Given the description of an element on the screen output the (x, y) to click on. 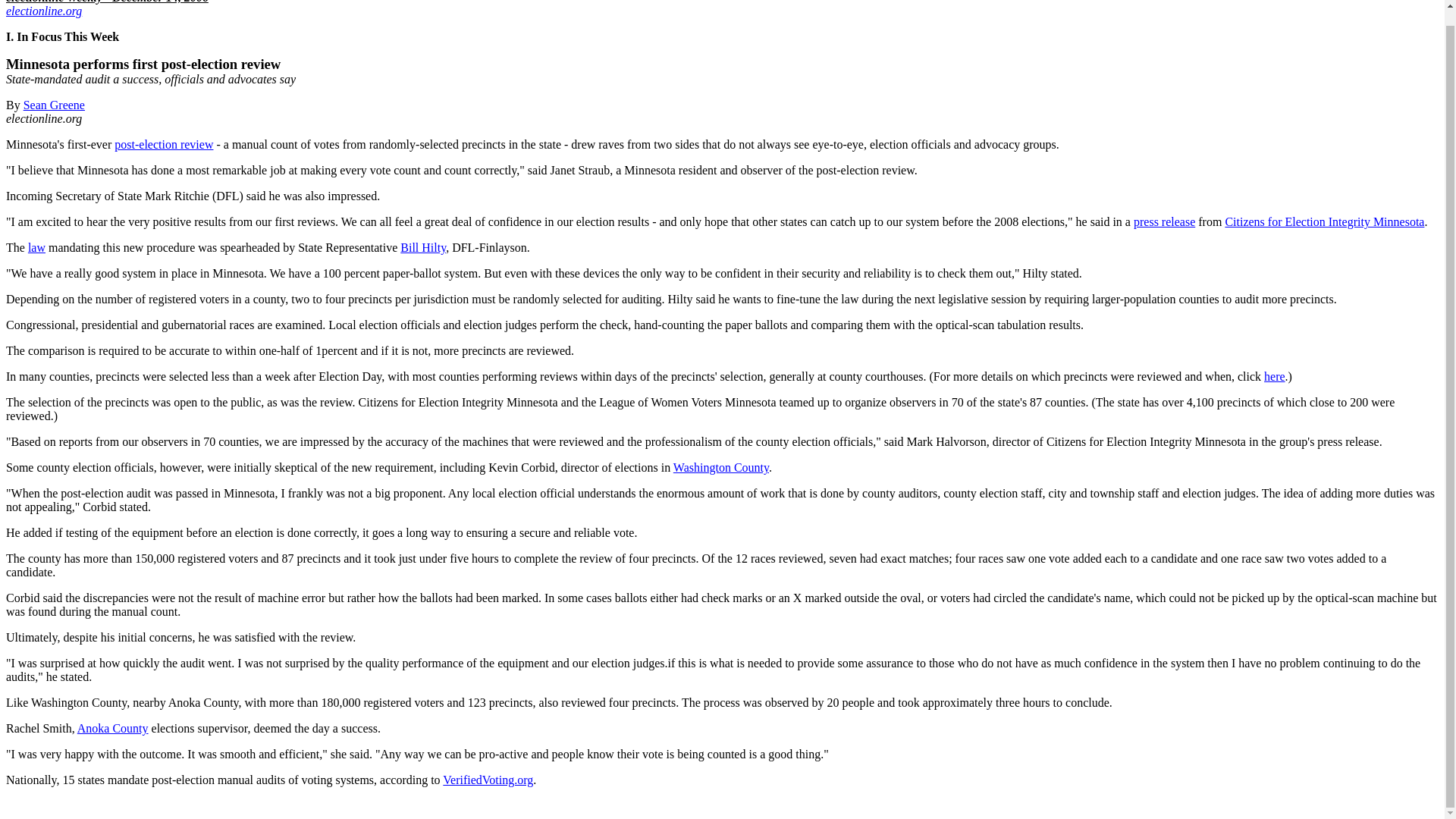
electionline.org (43, 10)
Citizens for Election Integrity Minnesota (1323, 221)
Sean Greene (53, 104)
post-election review (163, 144)
Anoka County (112, 727)
law (36, 246)
press release (1164, 221)
here (1274, 376)
Washington County (720, 467)
VerifiedVoting.org (487, 779)
Bill Hilty (422, 246)
